Given the description of an element on the screen output the (x, y) to click on. 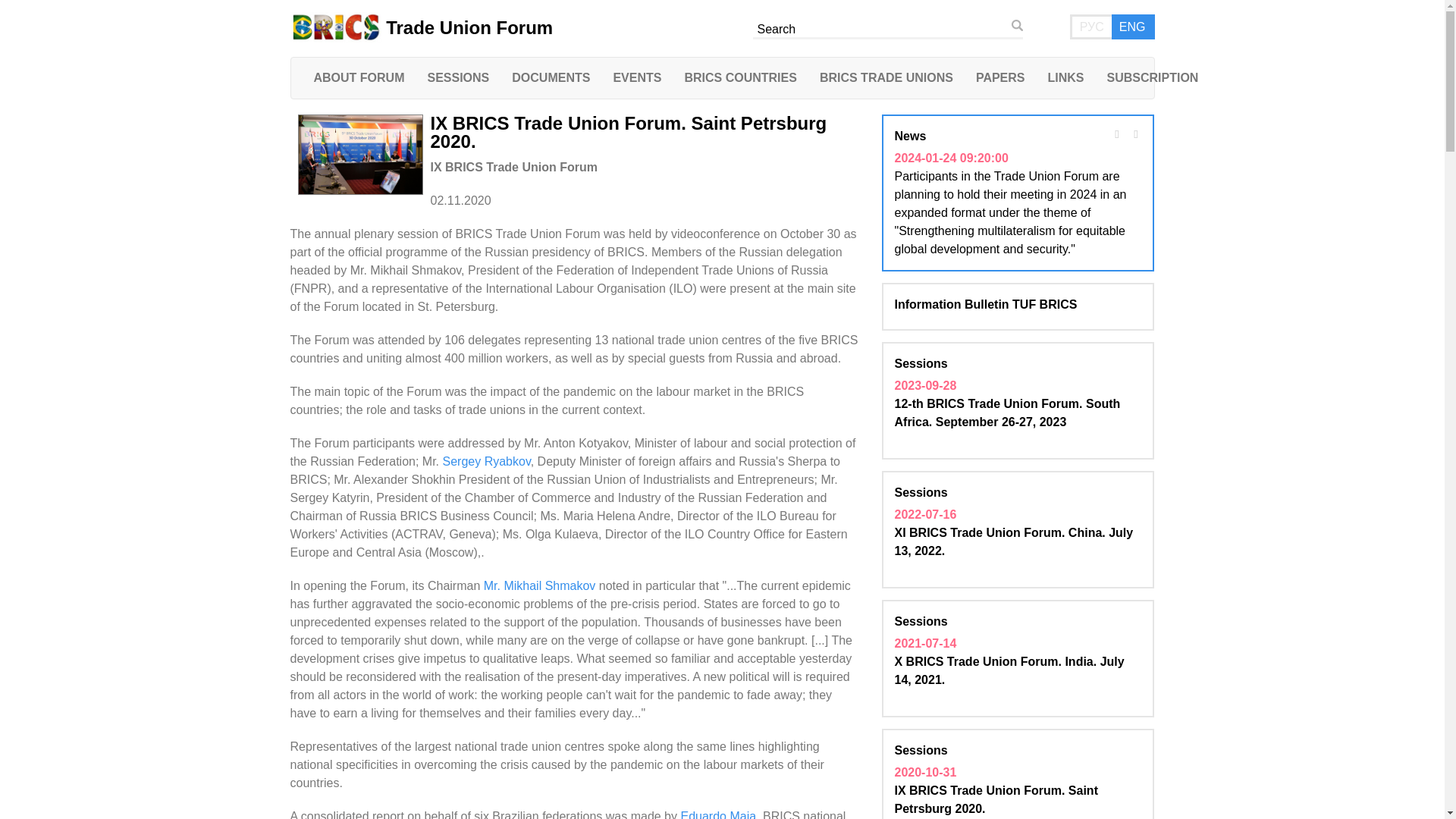
BRICS COUNTRIES (740, 77)
Sergey Ryabkov (485, 461)
ENG (1132, 26)
Eduardo Maia (717, 814)
IX BRICS Trade Union Forum. Saint Petrsburg 2020. (628, 132)
LINKS (1064, 77)
SESSIONS (457, 77)
BRICS TRADE UNIONS (885, 77)
PAPERS (999, 77)
ABOUT FORUM (357, 77)
SUBSCRIPTION (1151, 77)
EVENTS (636, 77)
Mr. Mikhail Shmakov (539, 585)
DOCUMENTS (550, 77)
